Given the description of an element on the screen output the (x, y) to click on. 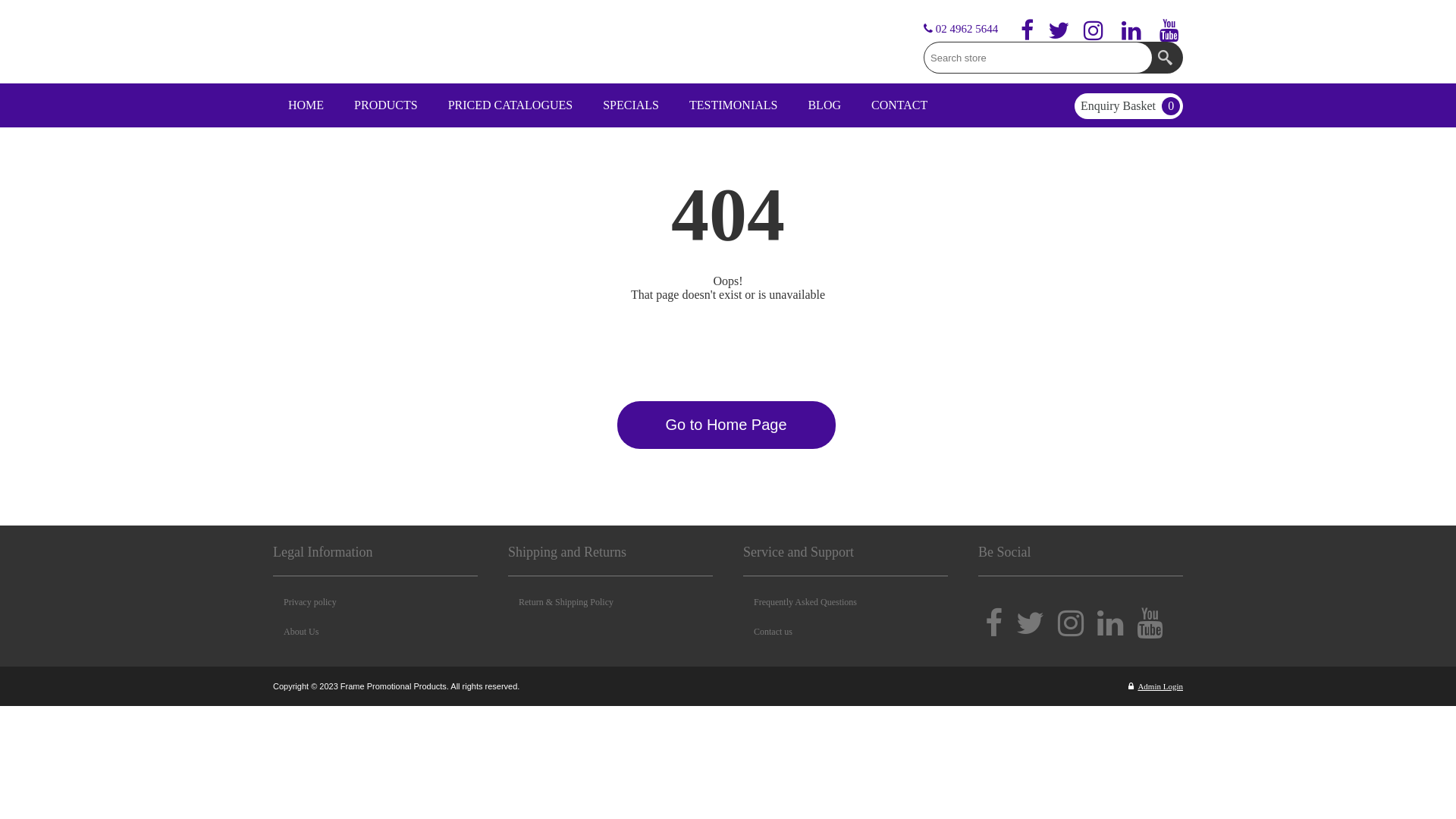
Search Element type: text (1166, 57)
PRICED CATALOGUES Element type: text (510, 105)
Privacy policy Element type: text (304, 602)
Frequently Asked Questions Element type: text (799, 602)
TESTIMONIALS Element type: text (733, 105)
HOME Element type: text (305, 105)
BLOG Element type: text (824, 105)
Go to Home Page Element type: text (726, 424)
Return & Shipping Policy Element type: text (560, 602)
SPECIALS Element type: text (630, 105)
About Us Element type: text (295, 631)
PRODUCTS Element type: text (385, 105)
Admin Login Element type: text (1155, 685)
02 4962 5644 Element type: text (960, 28)
Contact us Element type: text (767, 631)
CONTACT Element type: text (899, 105)
